Given the description of an element on the screen output the (x, y) to click on. 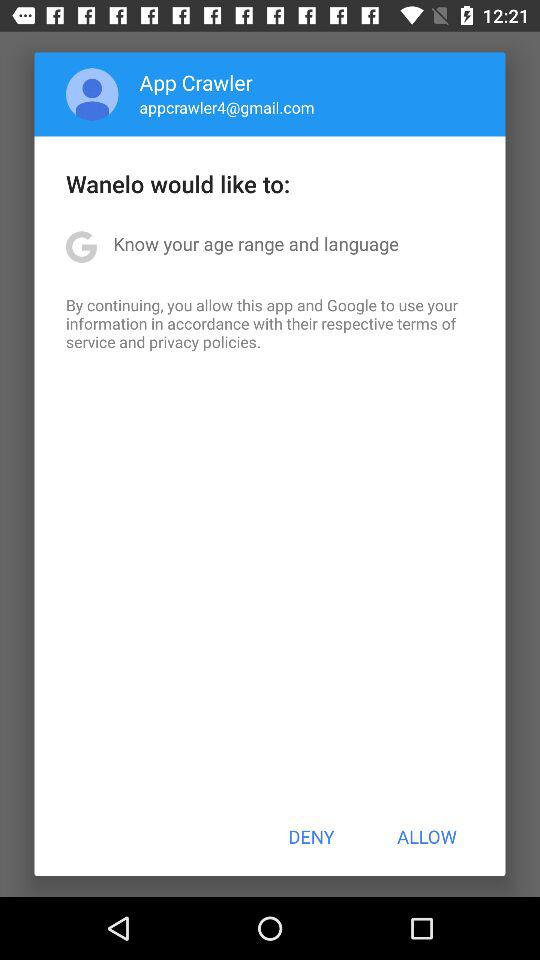
open app below the wanelo would like item (255, 243)
